Given the description of an element on the screen output the (x, y) to click on. 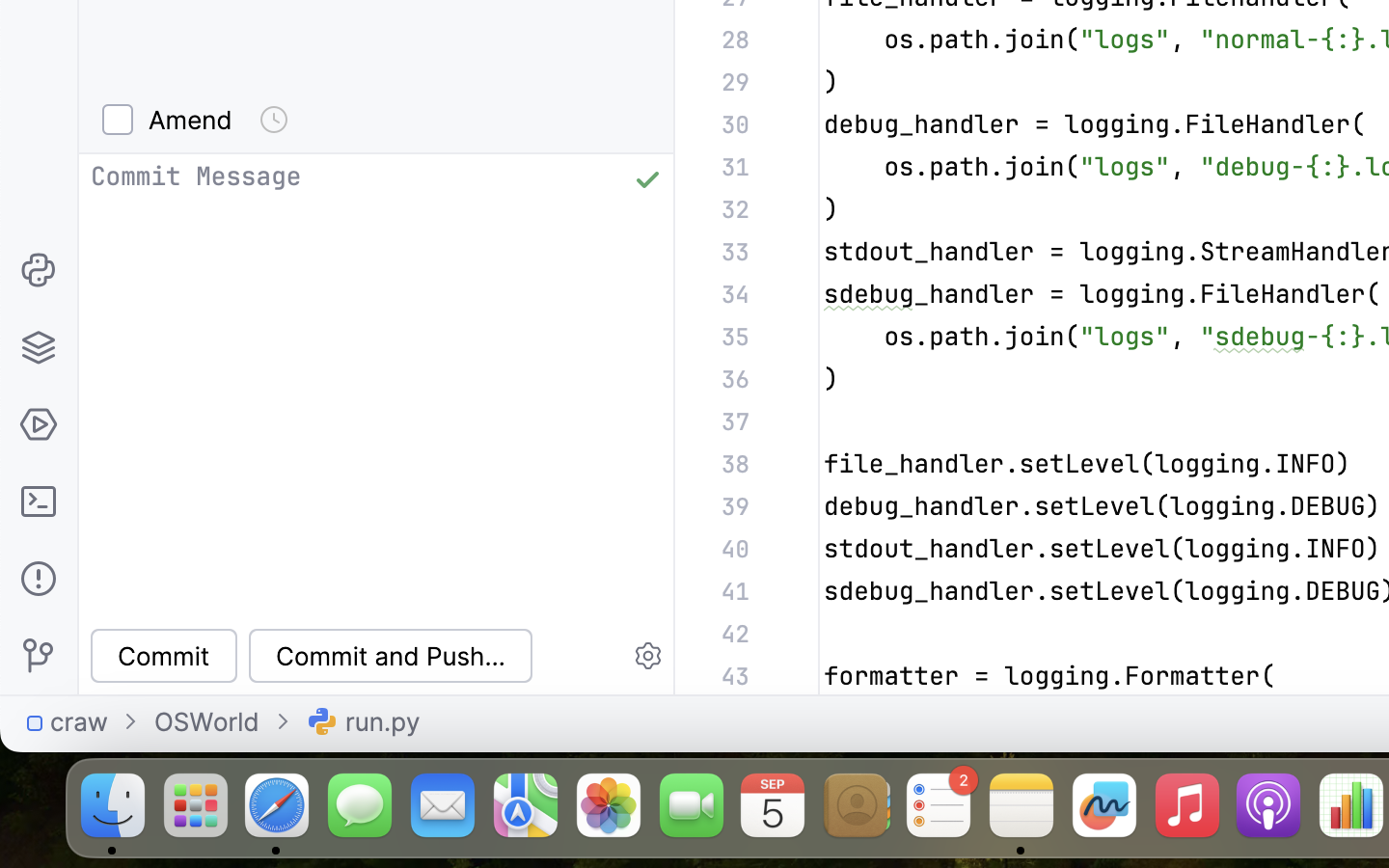
0 Element type: AXGroup (390, 655)
0 Element type: AXCheckBox (171, 119)
